Given the description of an element on the screen output the (x, y) to click on. 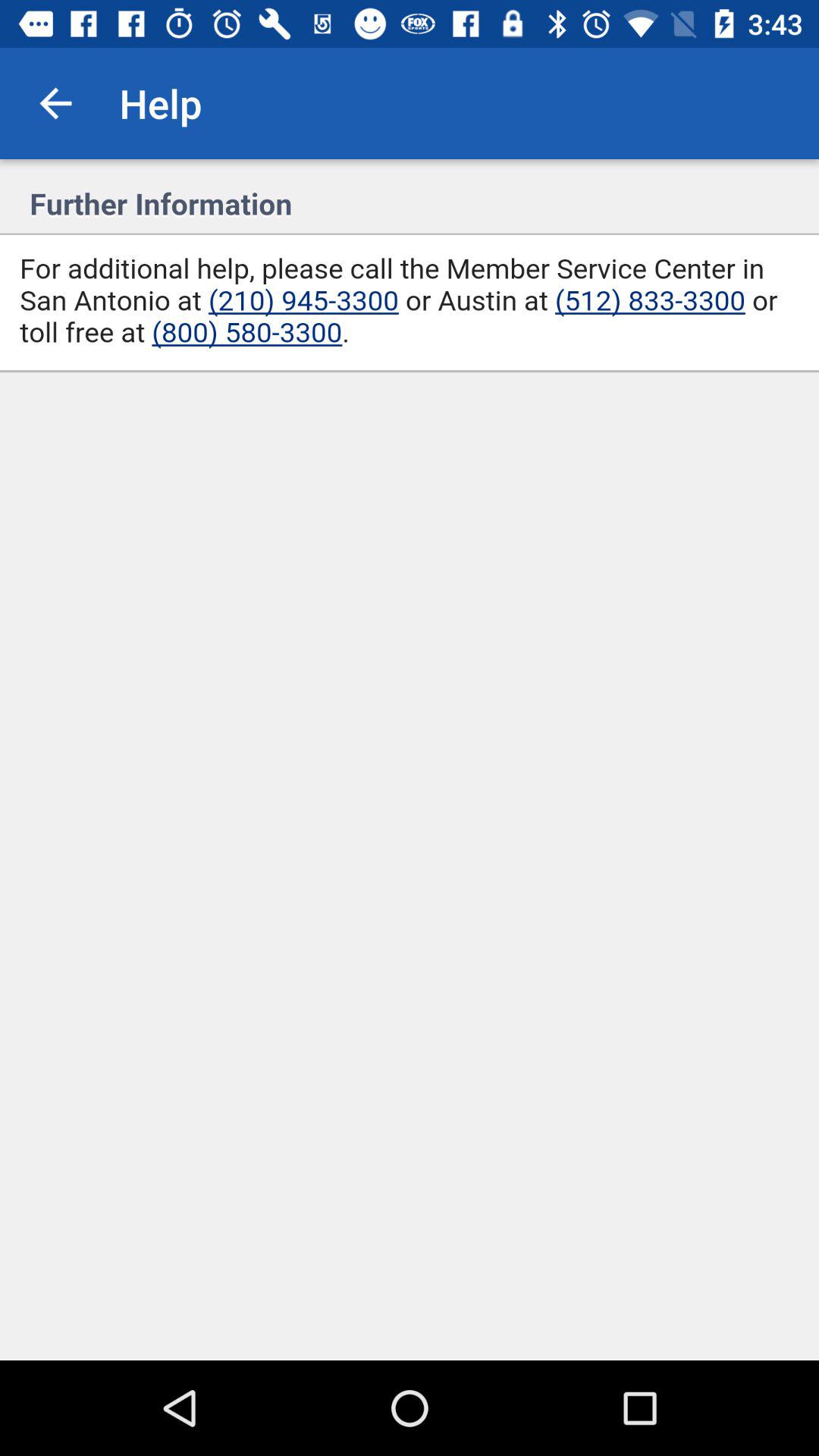
help assistant (409, 759)
